Given the description of an element on the screen output the (x, y) to click on. 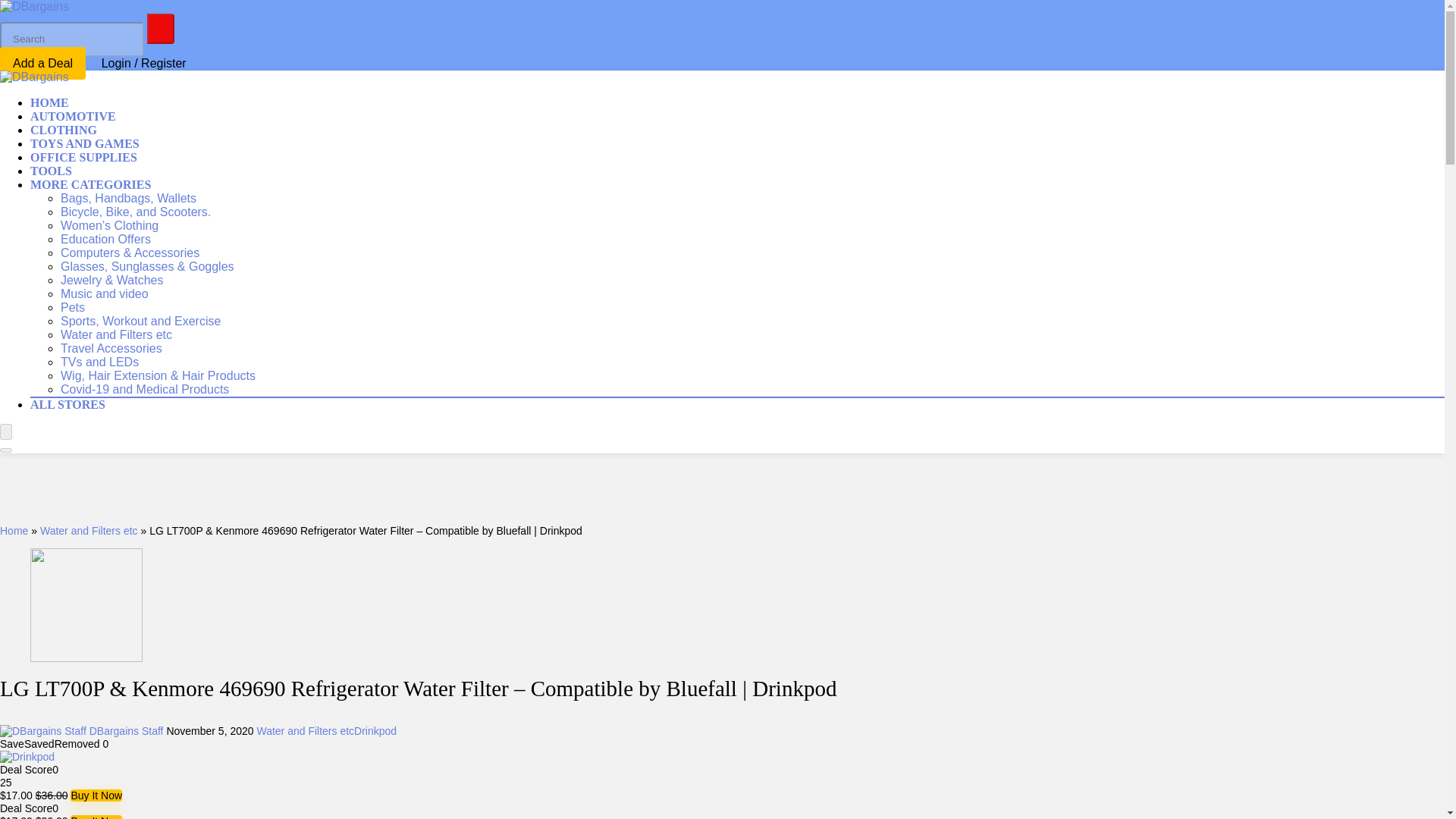
Drinkpod (374, 730)
View all posts in Water and Filters etc (304, 730)
TOYS AND GAMES (84, 142)
Bags, Handbags, Wallets (128, 196)
Water and Filters etc (89, 530)
Bicycle, Bike, and Scooters. (136, 210)
MORE CATEGORIES (90, 183)
Water and Filters etc (116, 333)
Sports, Workout and Exercise (141, 319)
Covid-19 and Medical Products (144, 388)
